Given the description of an element on the screen output the (x, y) to click on. 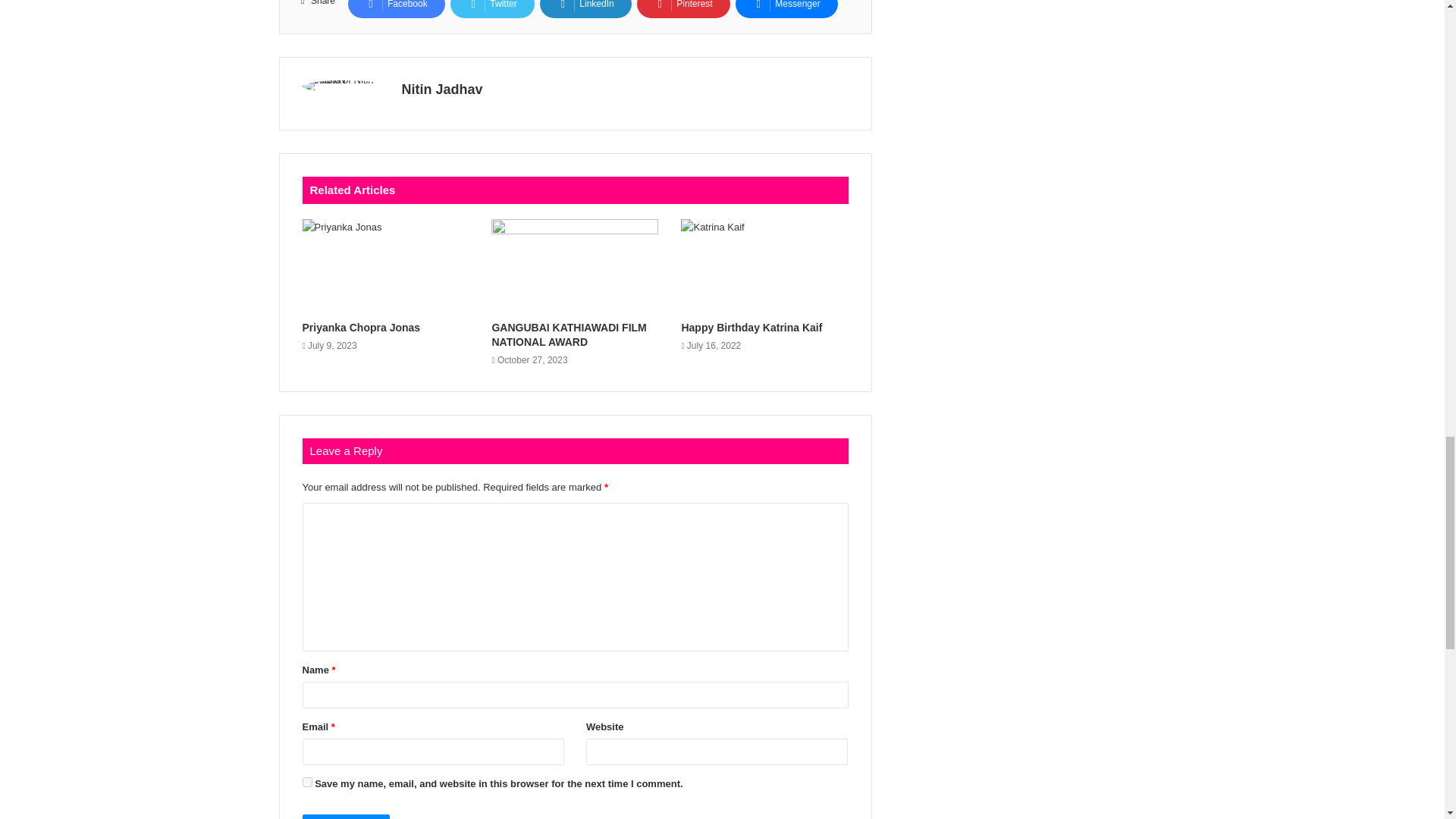
yes (306, 782)
Post Comment (345, 816)
